Given the description of an element on the screen output the (x, y) to click on. 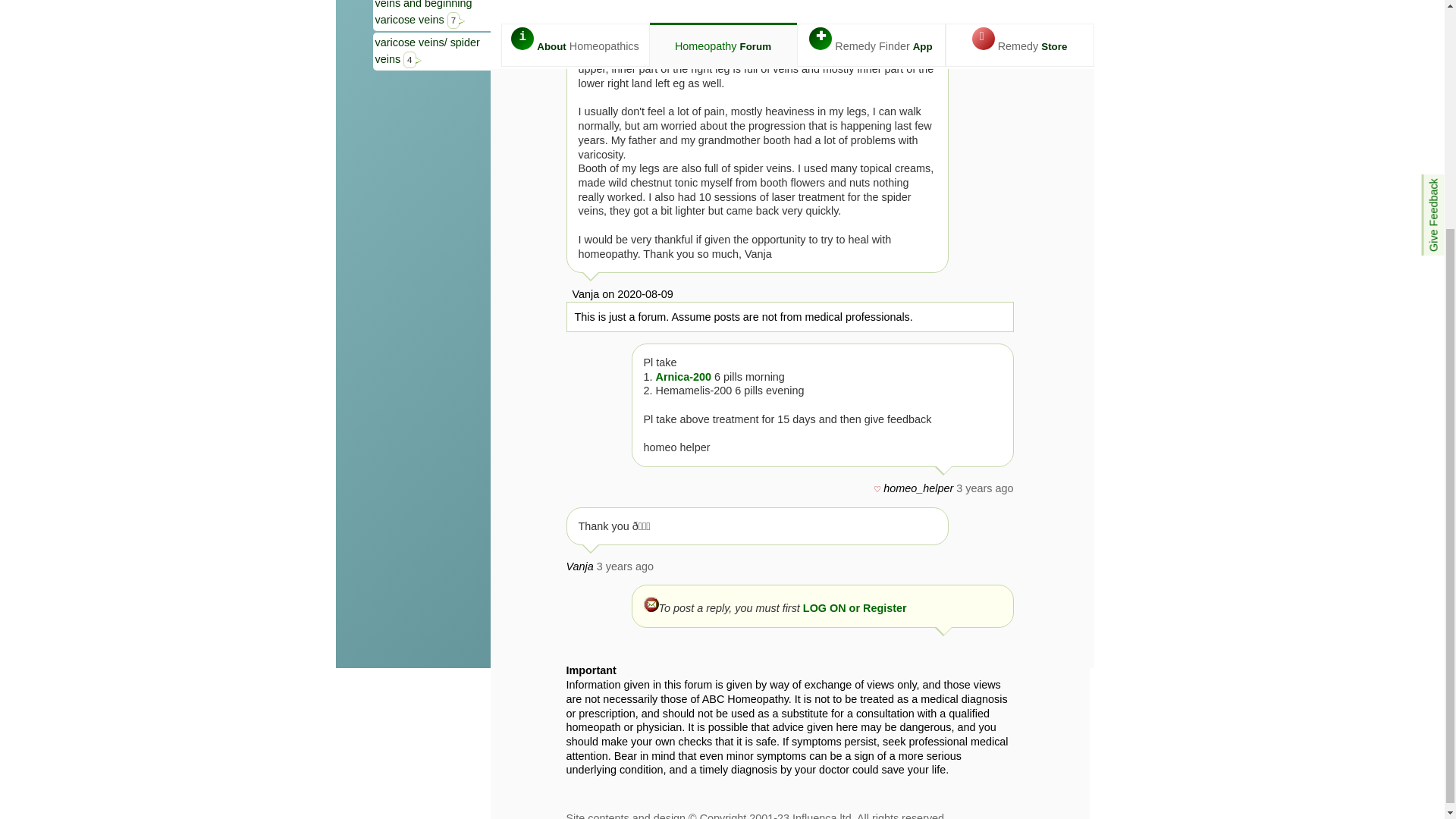
Best remedy for spider veins and beginning varicose veins 7 (432, 15)
Arnica-200 (684, 377)
